Given the description of an element on the screen output the (x, y) to click on. 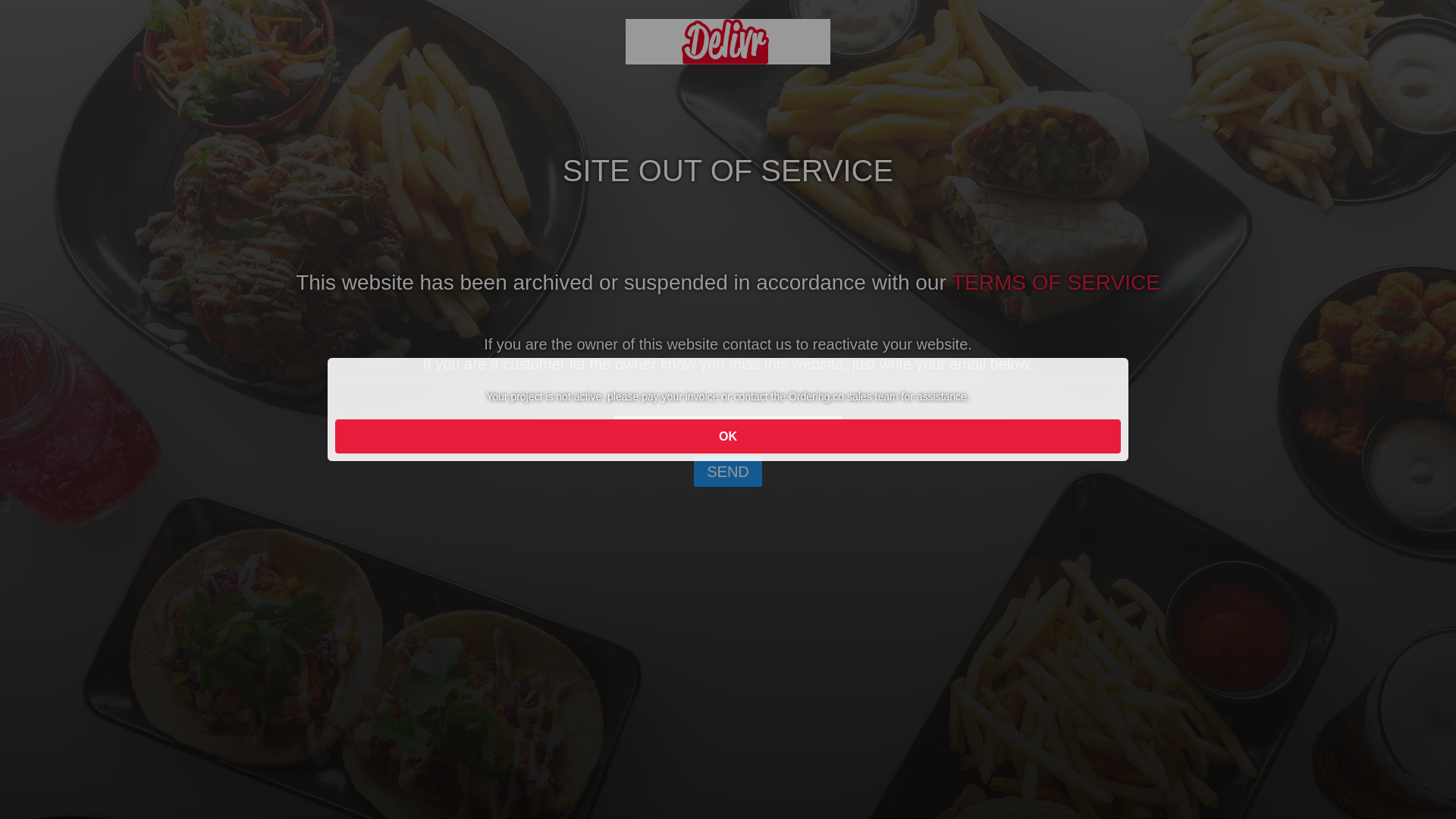
TERMS OF SERVICE Element type: text (1055, 282)
OK Element type: text (727, 436)
SEND Element type: text (727, 471)
